Given the description of an element on the screen output the (x, y) to click on. 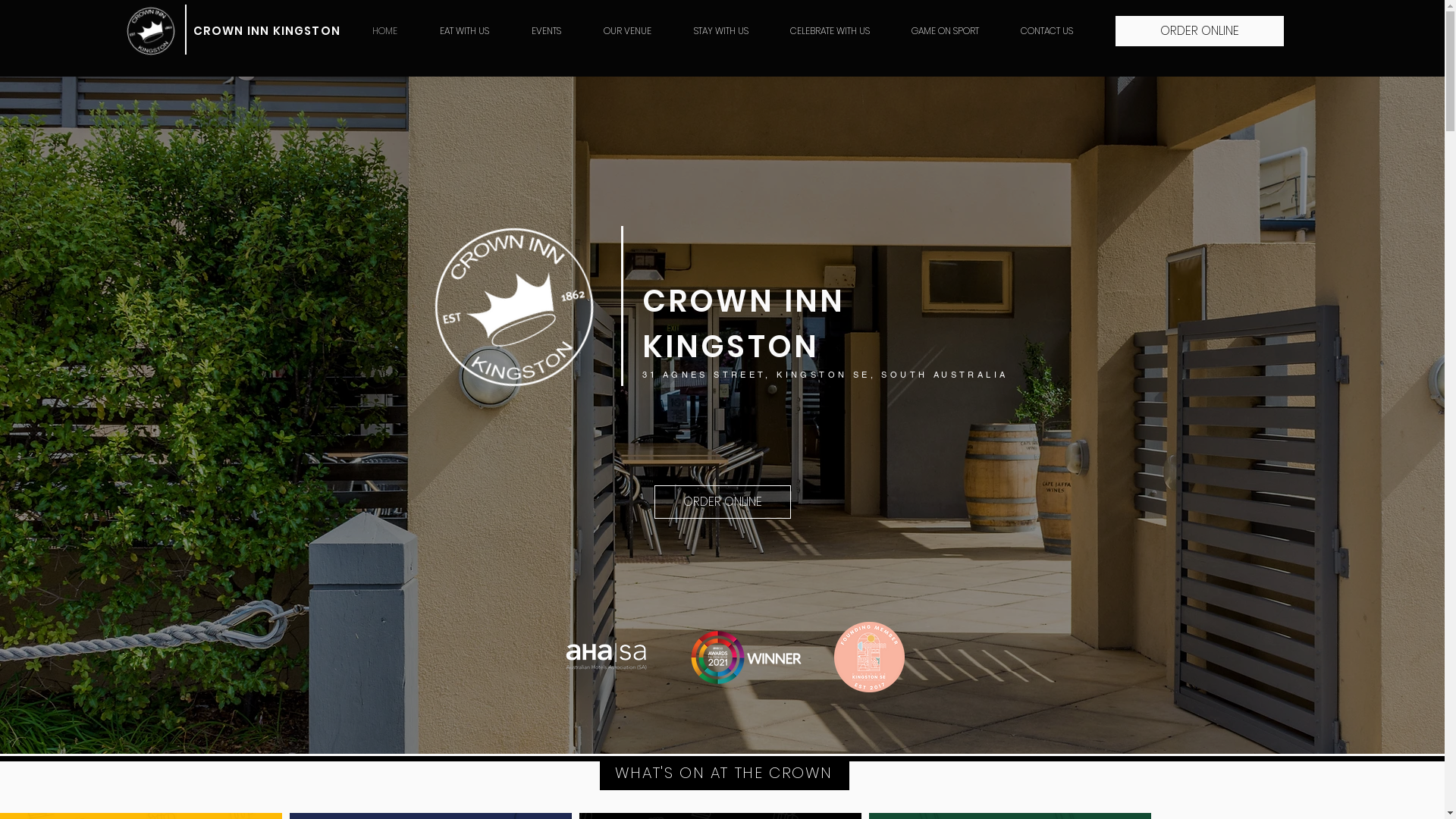
HOME Element type: text (383, 30)
OUR VENUE Element type: text (627, 30)
CROWN INN KINGSTON Element type: text (266, 30)
ORDER ONLINE Element type: text (721, 501)
STAY WITH US Element type: text (719, 30)
CONTACT US Element type: text (1046, 30)
EAT WITH US Element type: text (464, 30)
EVENTS Element type: text (545, 30)
ORDER ONLINE Element type: text (1198, 30)
CELEBRATE WITH US Element type: text (829, 30)
GAME ON SPORT Element type: text (944, 30)
